Given the description of an element on the screen output the (x, y) to click on. 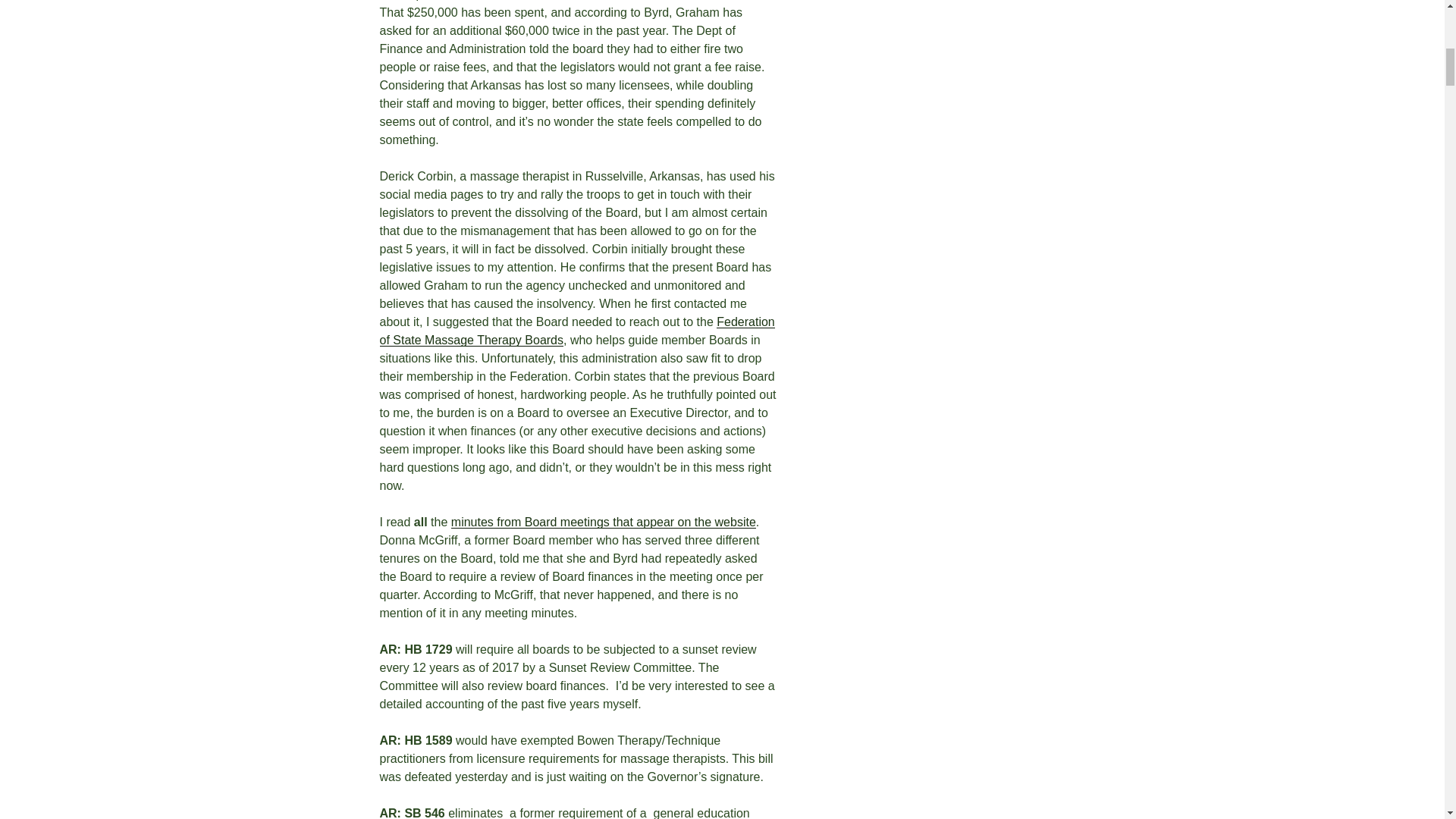
minutes from Board meetings that appear on the website (603, 521)
Federation of State Massage Therapy Boards (576, 330)
Federation of Stste Massage Therapy Boards (576, 330)
minutes from board meetings (603, 521)
